Given the description of an element on the screen output the (x, y) to click on. 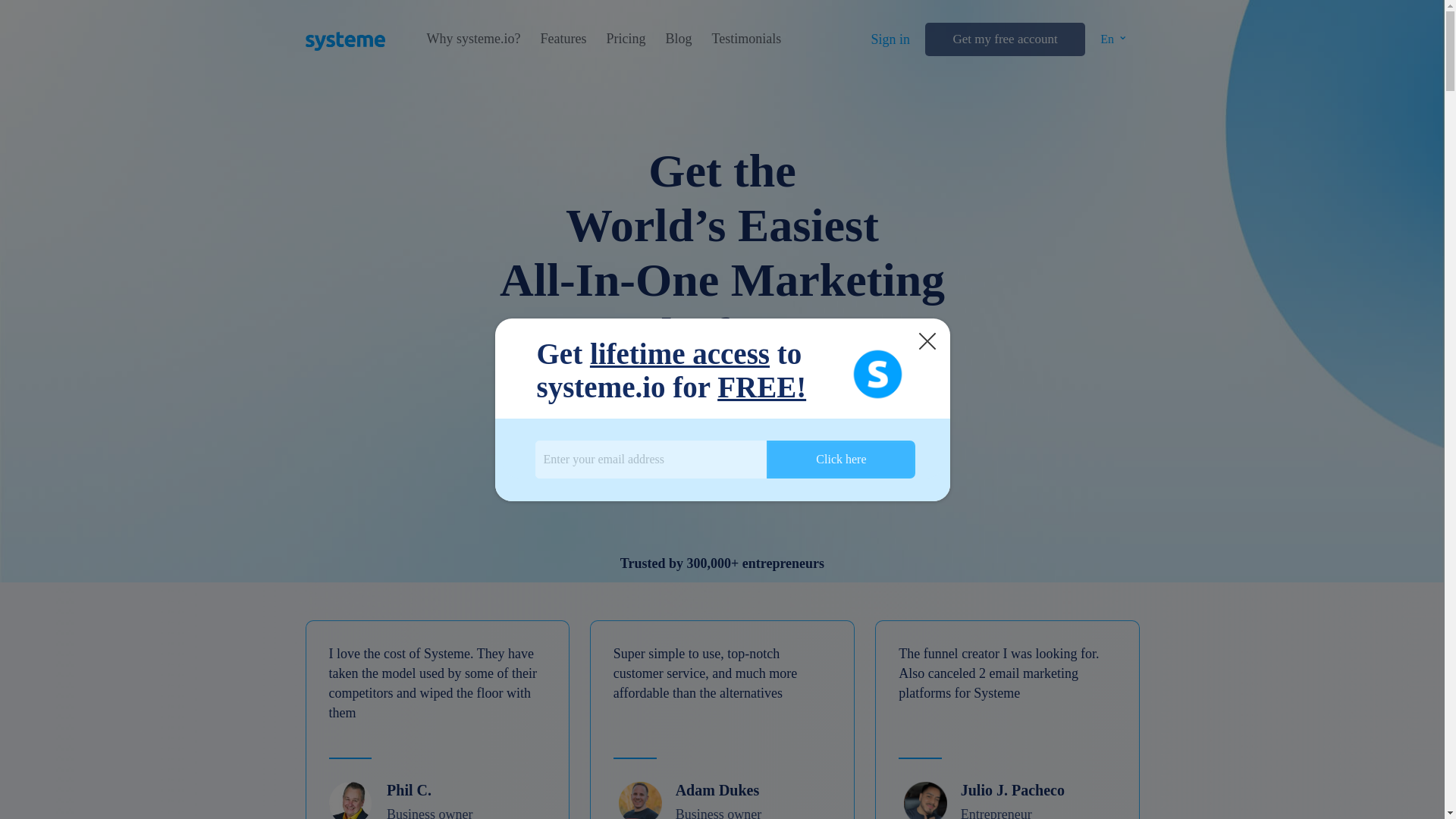
Why systeme.io? (472, 38)
Features (563, 38)
Blog (678, 38)
Sign in (890, 39)
Pricing (625, 38)
Get my free account (1004, 39)
Testimonials (745, 38)
